Given the description of an element on the screen output the (x, y) to click on. 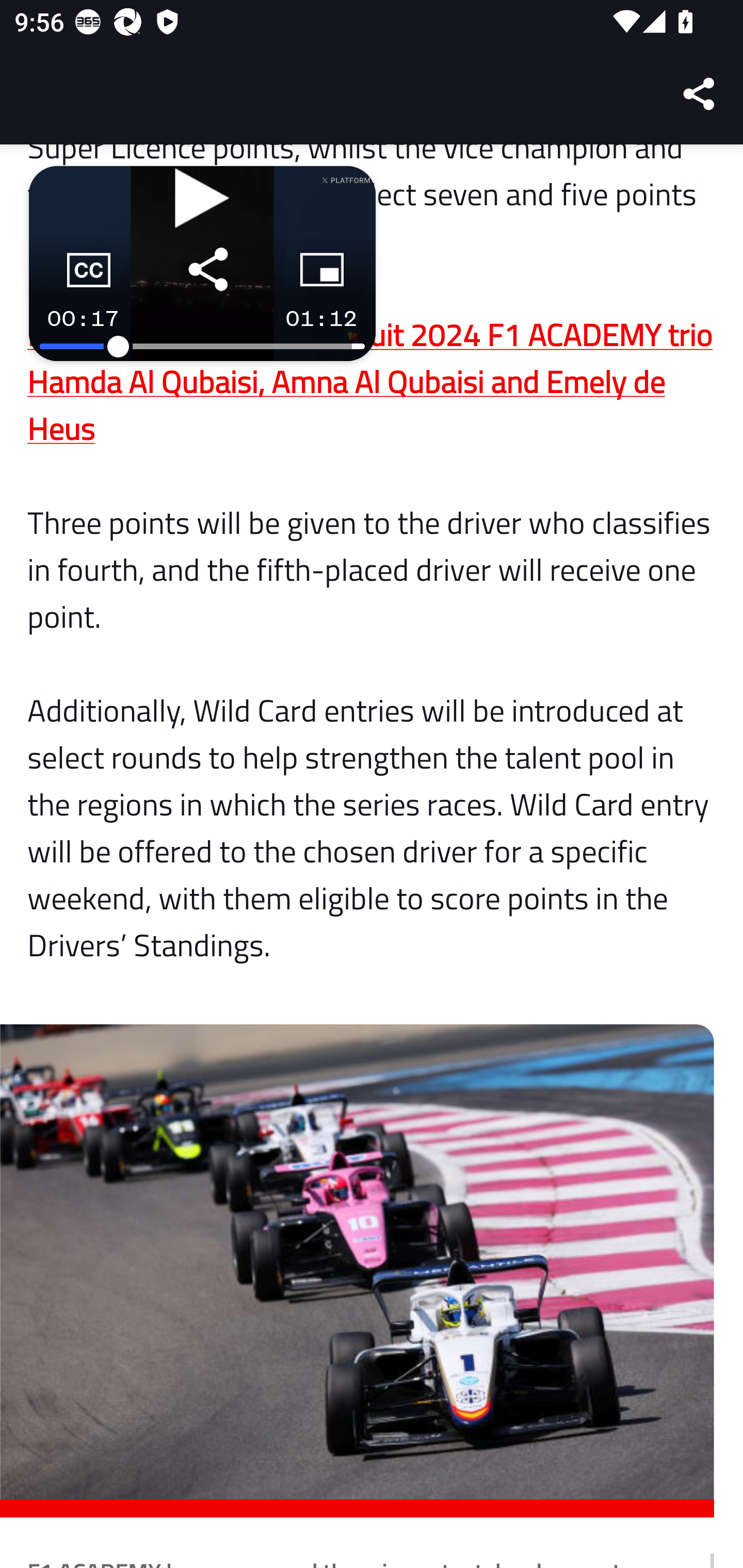
Share (699, 93)
